Given the description of an element on the screen output the (x, y) to click on. 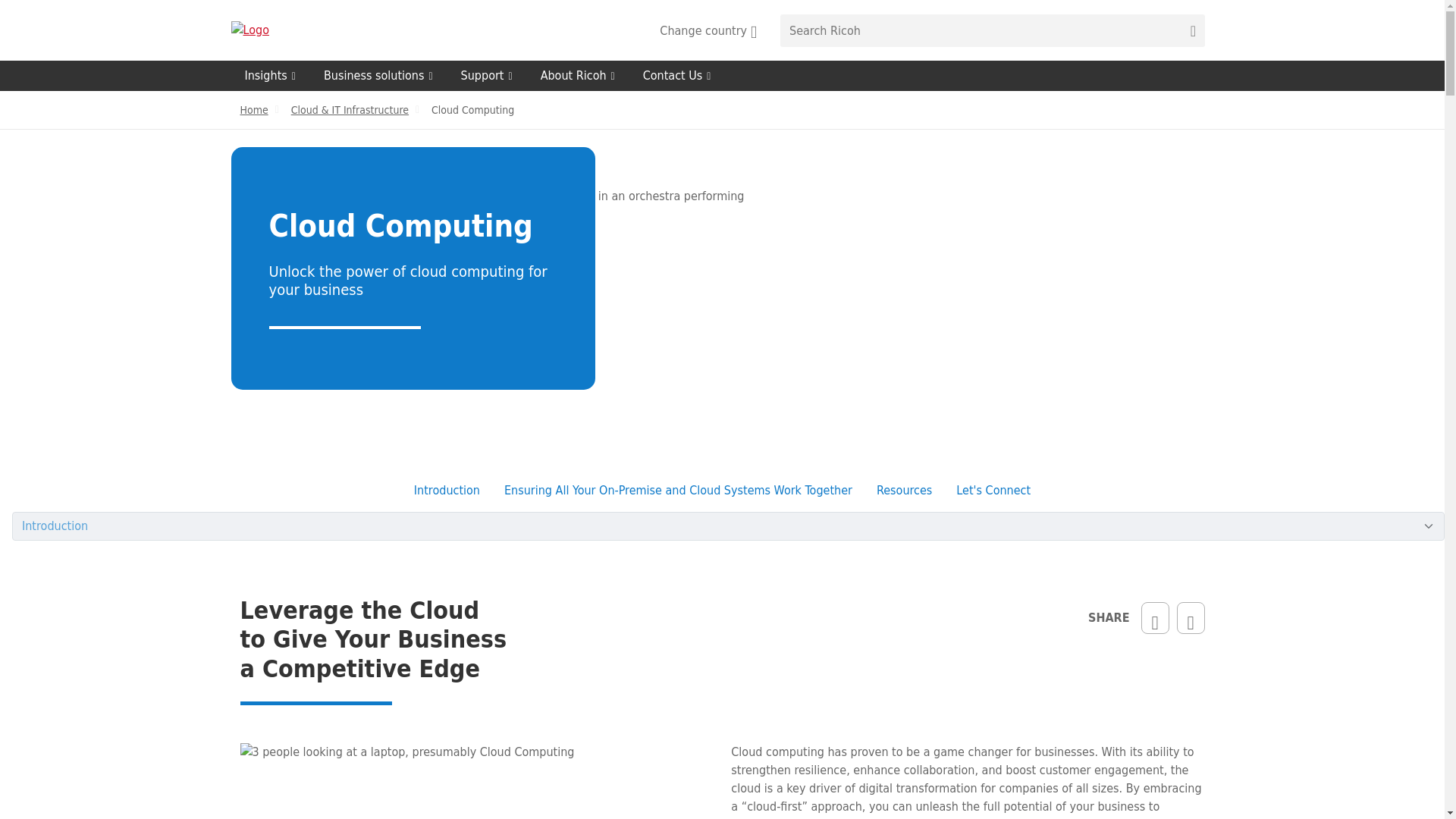
Return to the Homepage (285, 30)
Cloud Computing (472, 109)
Change country (708, 30)
Insights (269, 75)
Business solutions (378, 75)
